Given the description of an element on the screen output the (x, y) to click on. 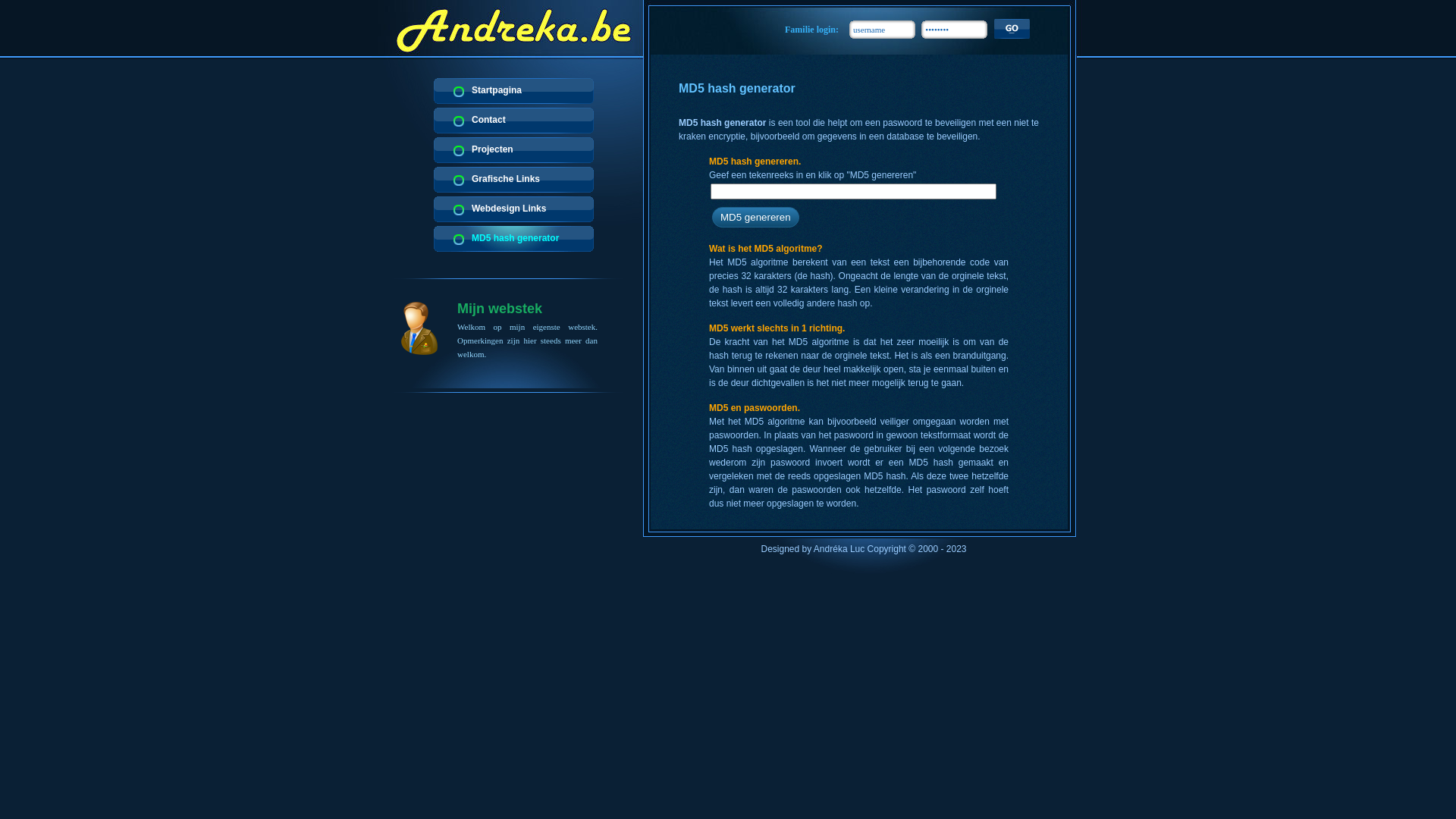
Startpagina Element type: text (513, 90)
Webdesign Links Element type: text (513, 209)
MD5 genereren Element type: text (755, 217)
Grafische Links Element type: text (513, 179)
Projecten Element type: text (513, 150)
_ Element type: text (1011, 28)
MD5 hash generator Element type: text (513, 238)
Contact Element type: text (513, 120)
